Given the description of an element on the screen output the (x, y) to click on. 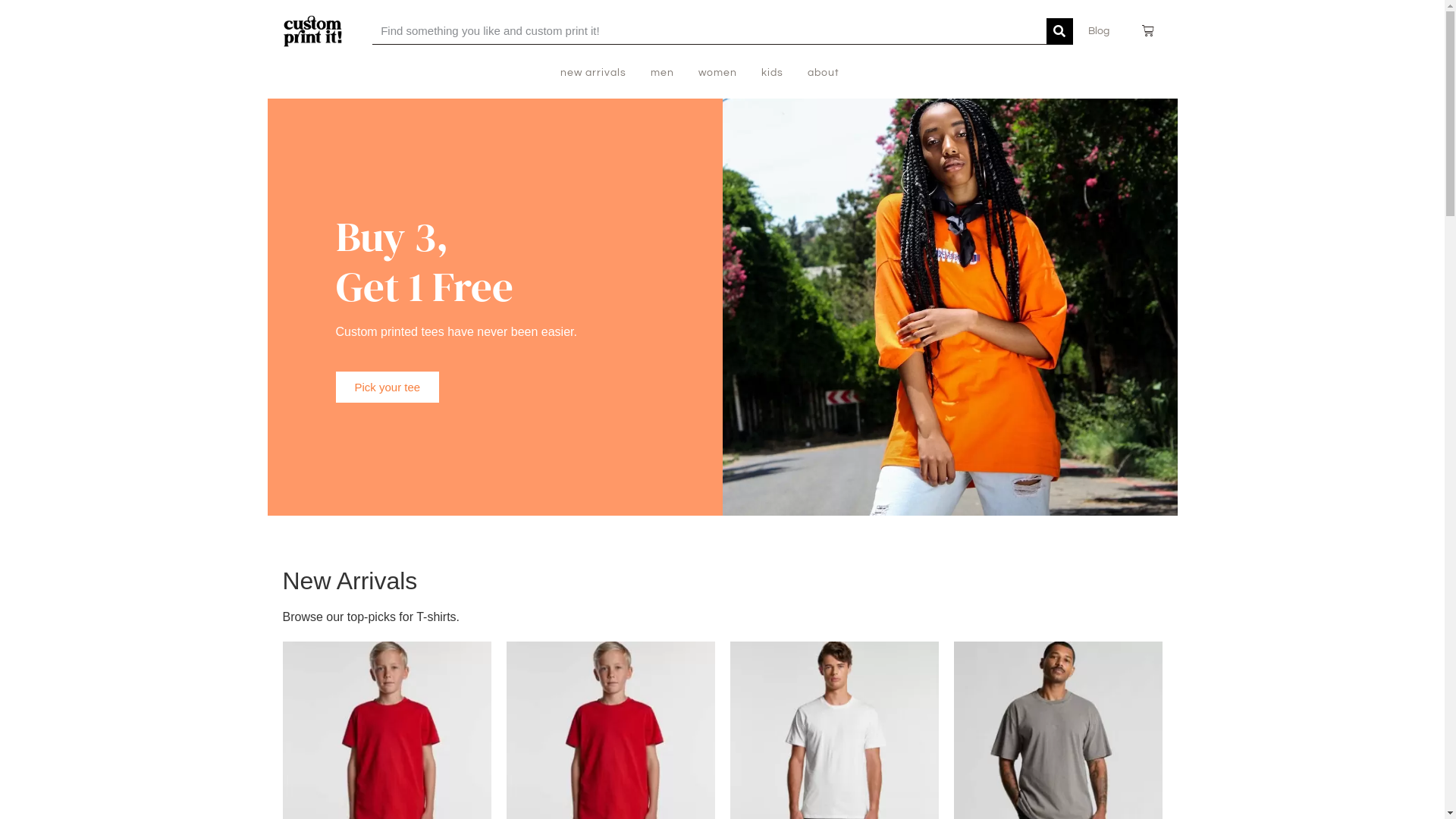
women Element type: text (717, 72)
new arrivals Element type: text (593, 72)
about Element type: text (823, 72)
men Element type: text (662, 72)
Pick your tee Element type: text (387, 386)
kids Element type: text (772, 72)
